Given the description of an element on the screen output the (x, y) to click on. 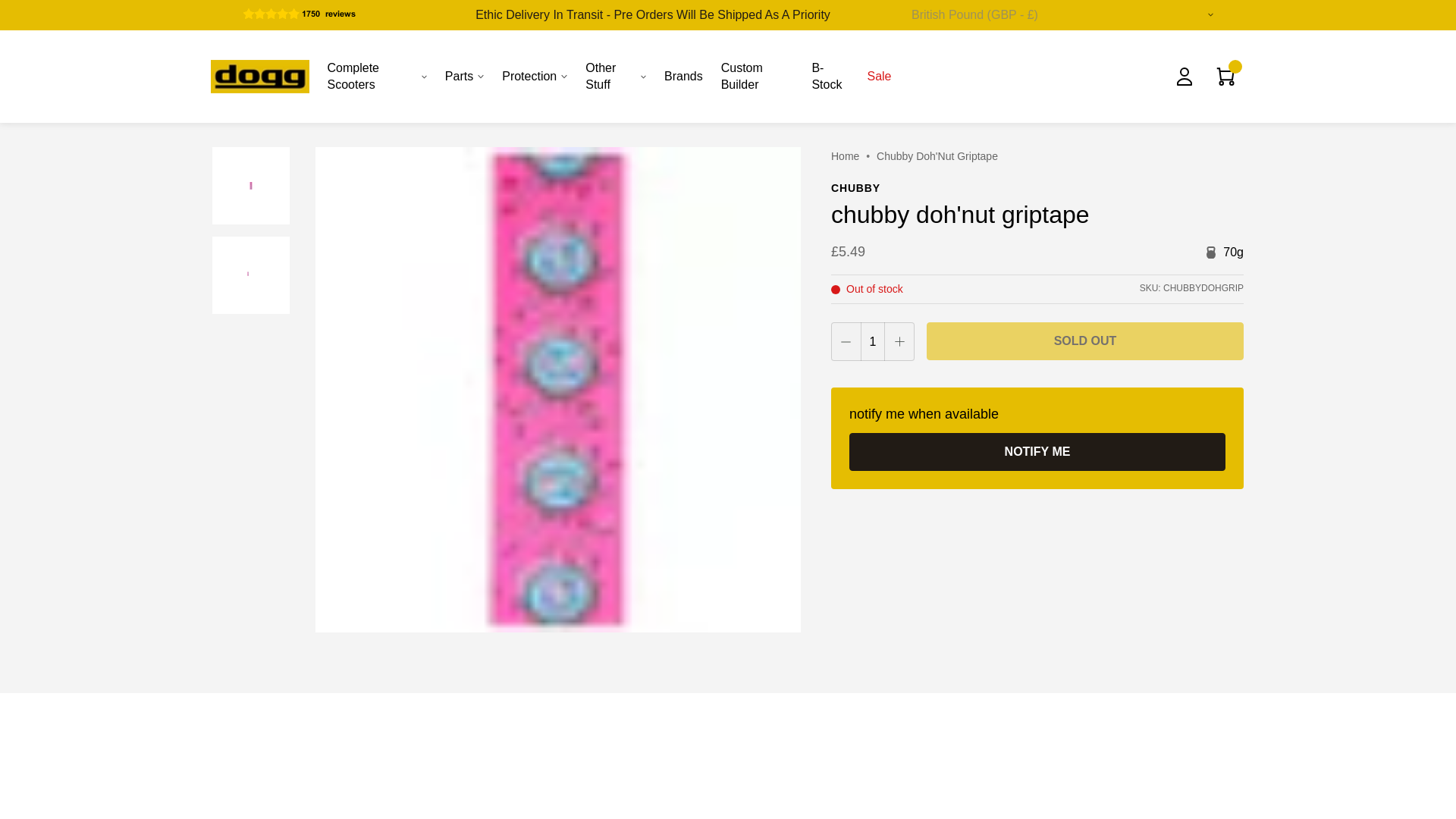
home (845, 155)
1 (872, 341)
Complete Scooters (376, 76)
Our customer Feefo rating (318, 12)
Skip to content (35, 39)
Parts (464, 76)
